Given the description of an element on the screen output the (x, y) to click on. 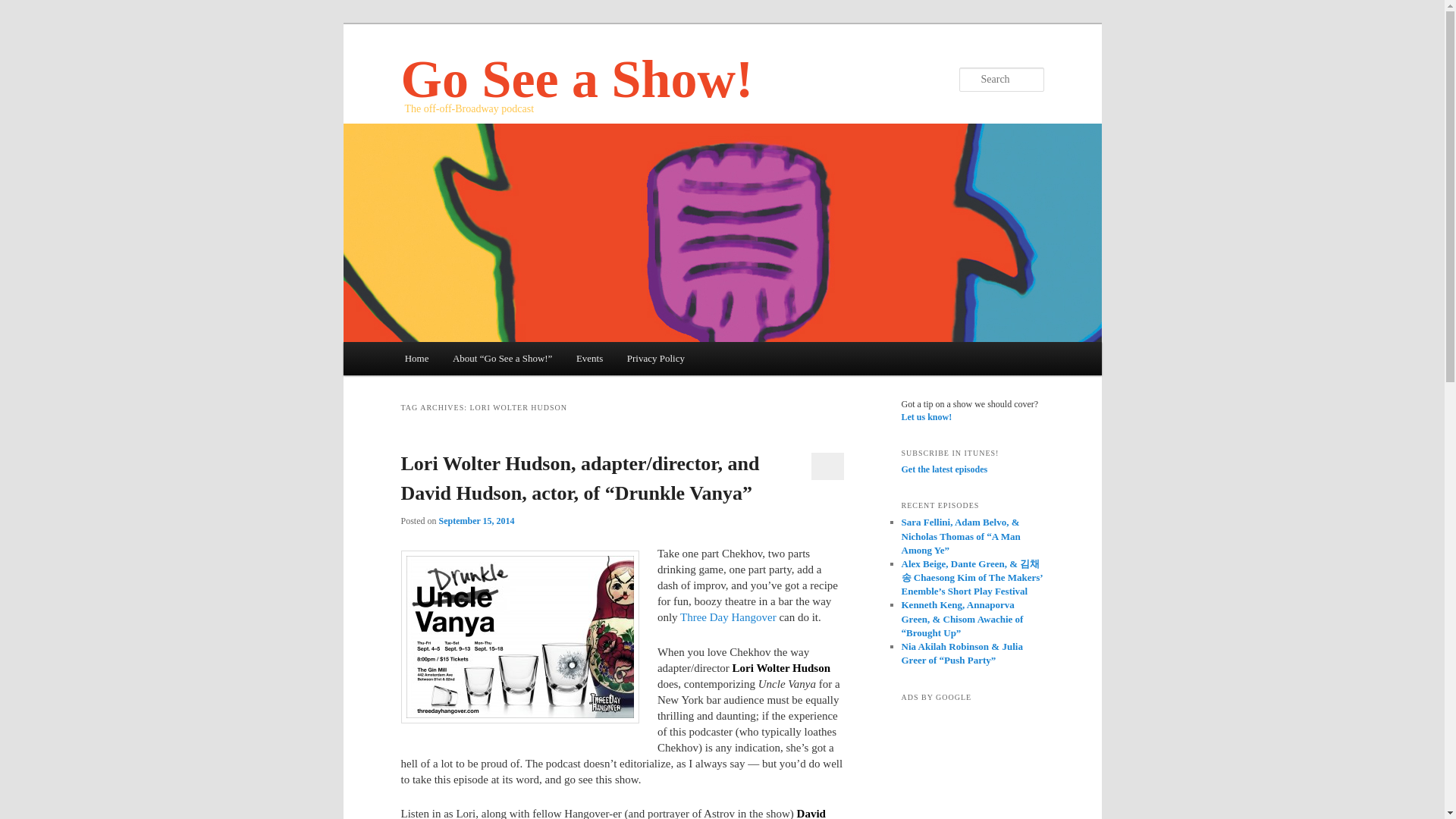
6:57 pm (477, 520)
Let us know! (926, 416)
Home (417, 358)
September 15, 2014 (477, 520)
Go See a Show! (576, 78)
Three Day Hangover (727, 616)
Privacy Policy (655, 358)
Events (589, 358)
Search (21, 8)
